Given the description of an element on the screen output the (x, y) to click on. 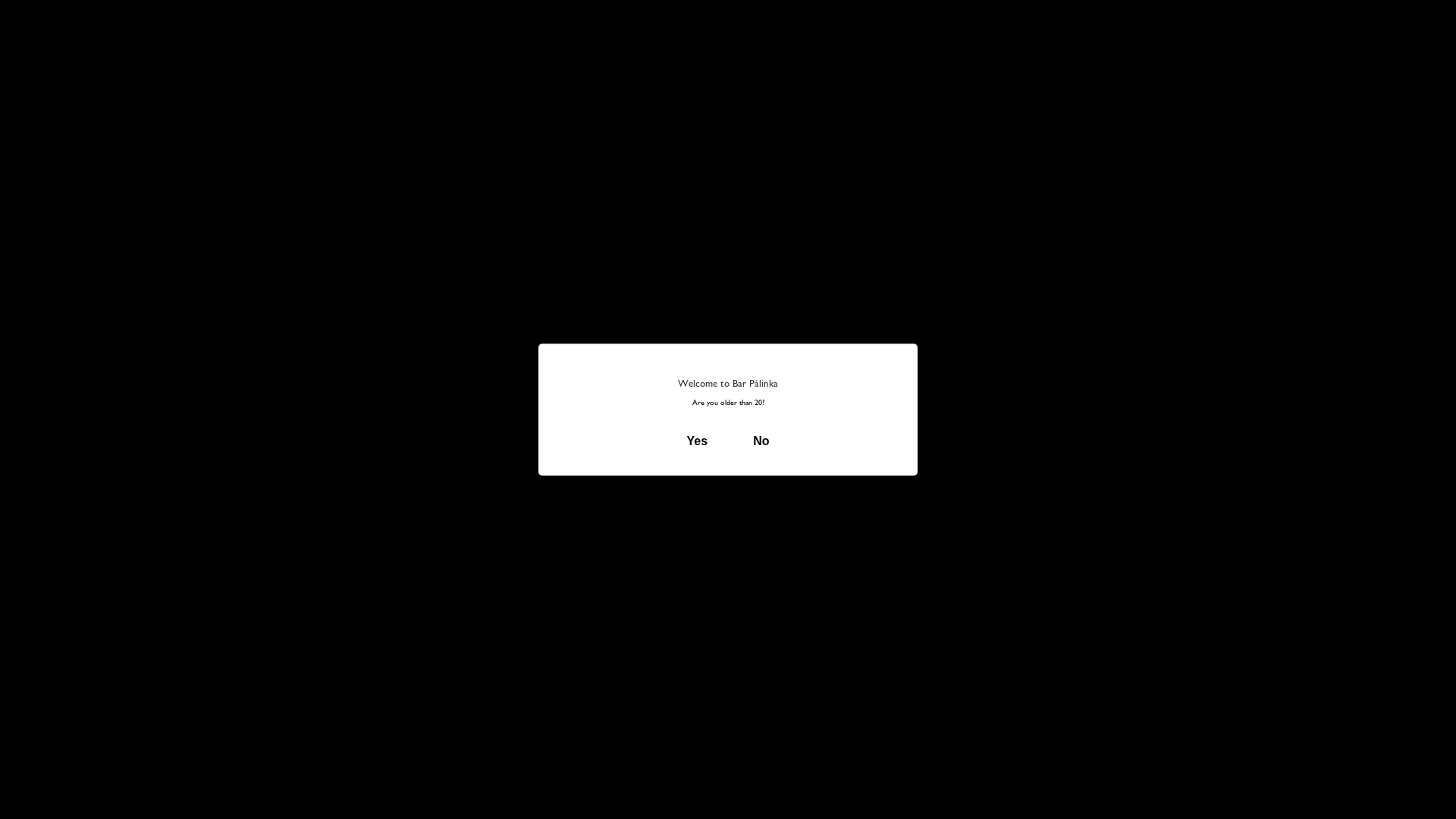
SHARE Element type: text (989, 601)
